Given the description of an element on the screen output the (x, y) to click on. 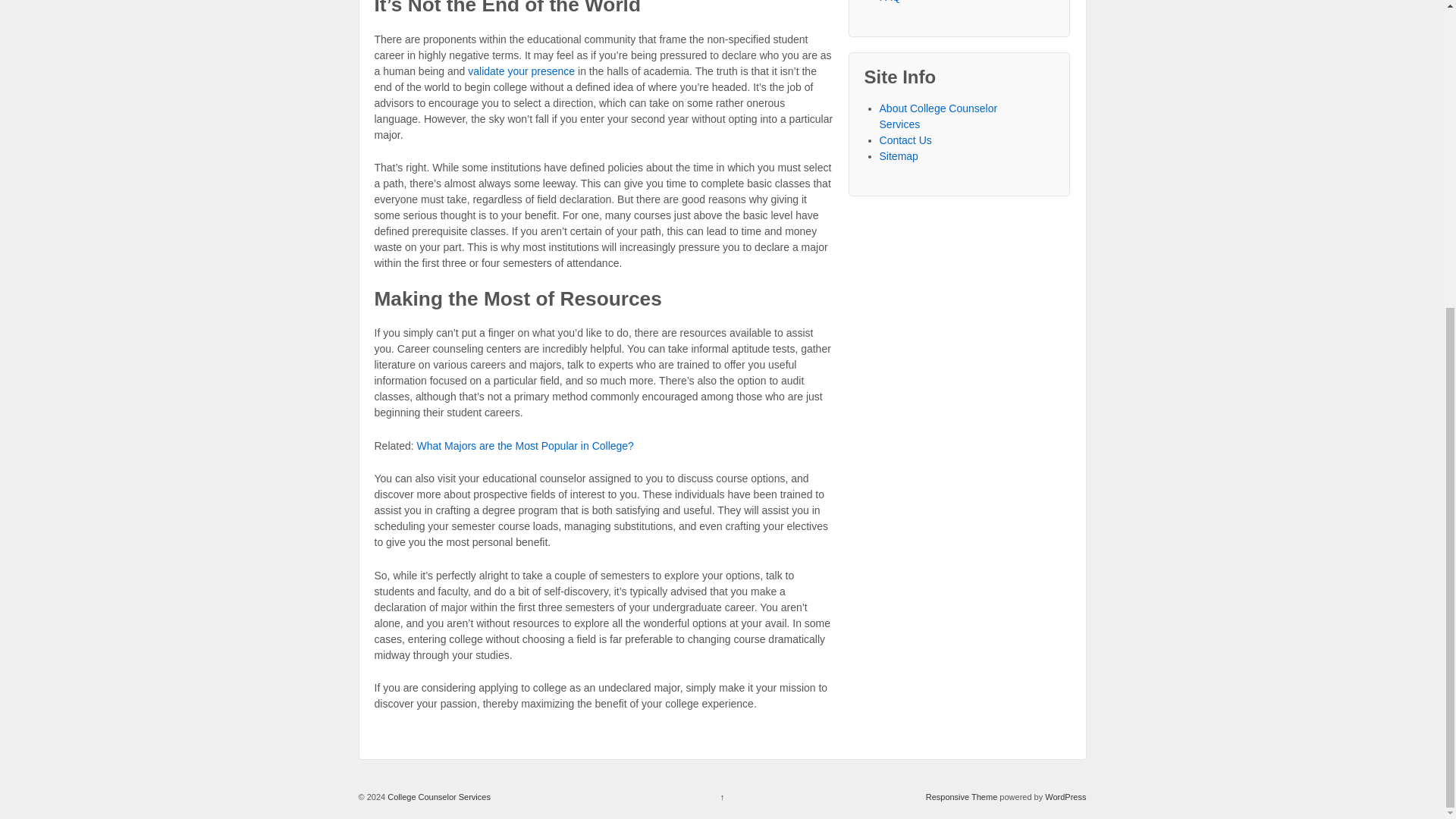
About College Counselor Services (938, 116)
WordPress (1065, 796)
Responsive Theme (961, 796)
validate your presence (521, 70)
Sitemap (898, 155)
FAQ (890, 1)
College Counselor Services (437, 796)
Contact Us (905, 140)
Responsive Theme (961, 796)
WordPress (1065, 796)
